Given the description of an element on the screen output the (x, y) to click on. 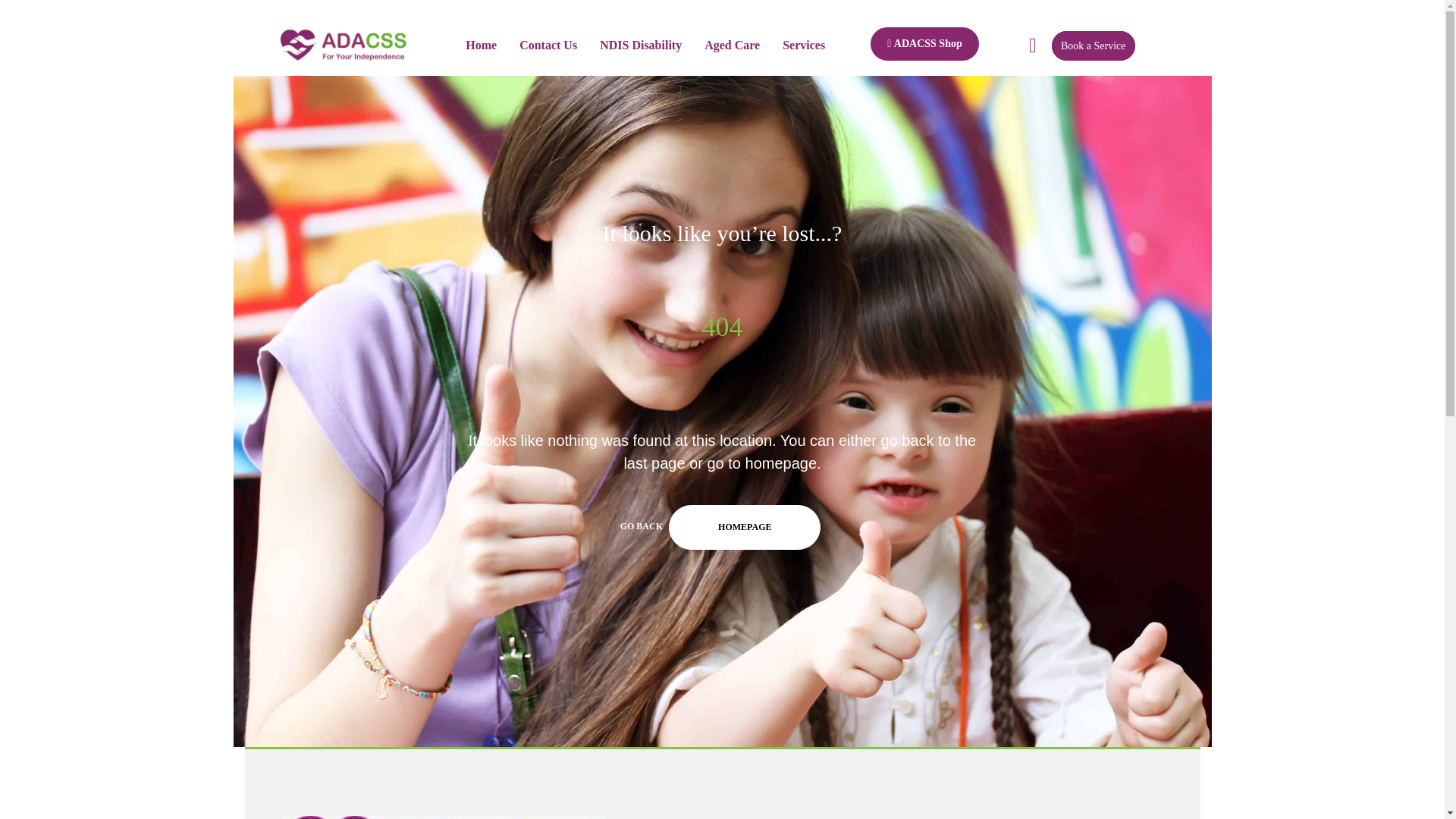
Contact Us (547, 44)
Aged Care (732, 44)
Services (804, 44)
NDIS Disability (640, 44)
